Given the description of an element on the screen output the (x, y) to click on. 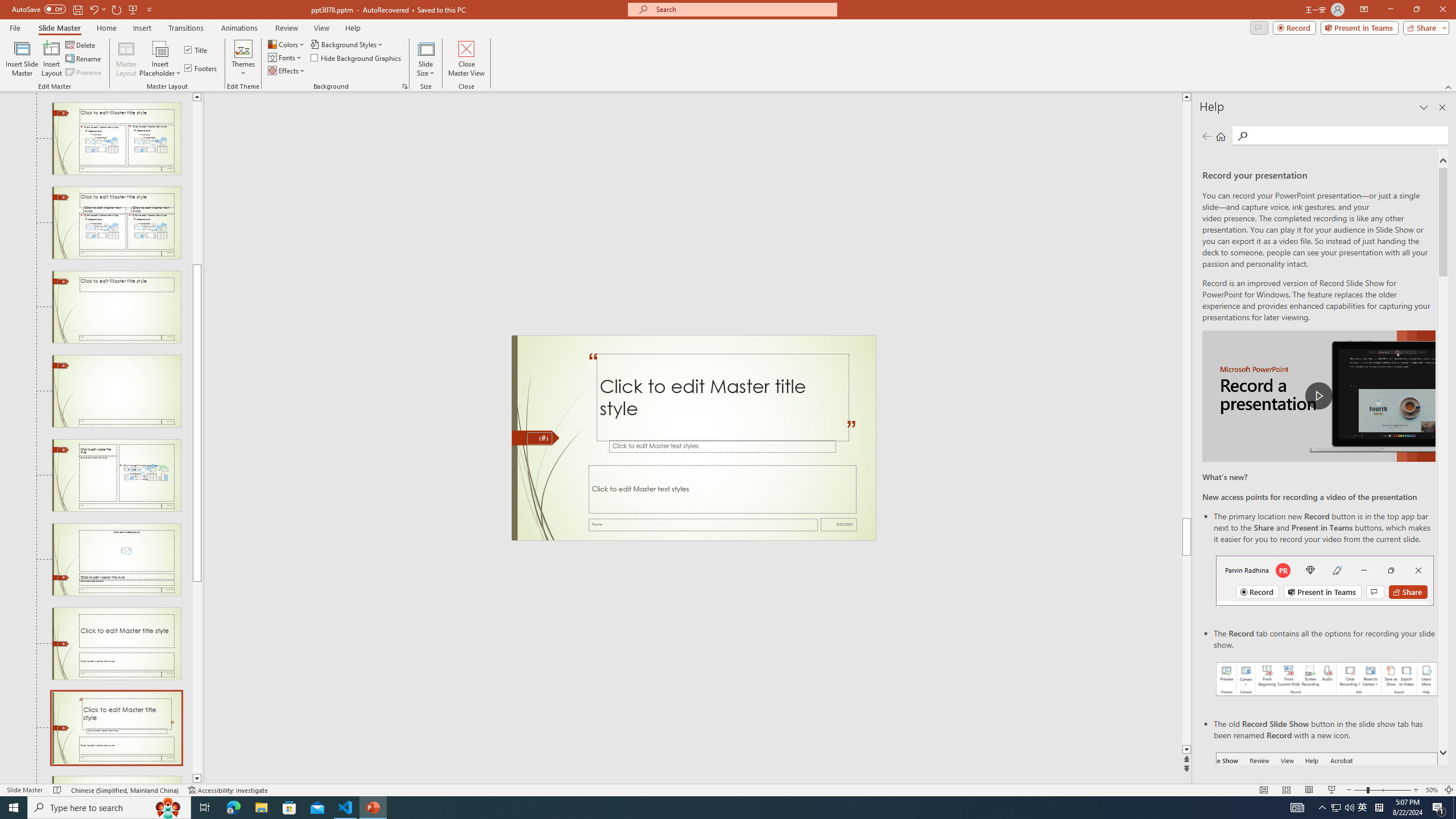
Insert Slide Master (21, 58)
Preserve (84, 72)
Date (839, 524)
Line up (197, 96)
Search (1241, 136)
Background Styles (347, 44)
